Given the description of an element on the screen output the (x, y) to click on. 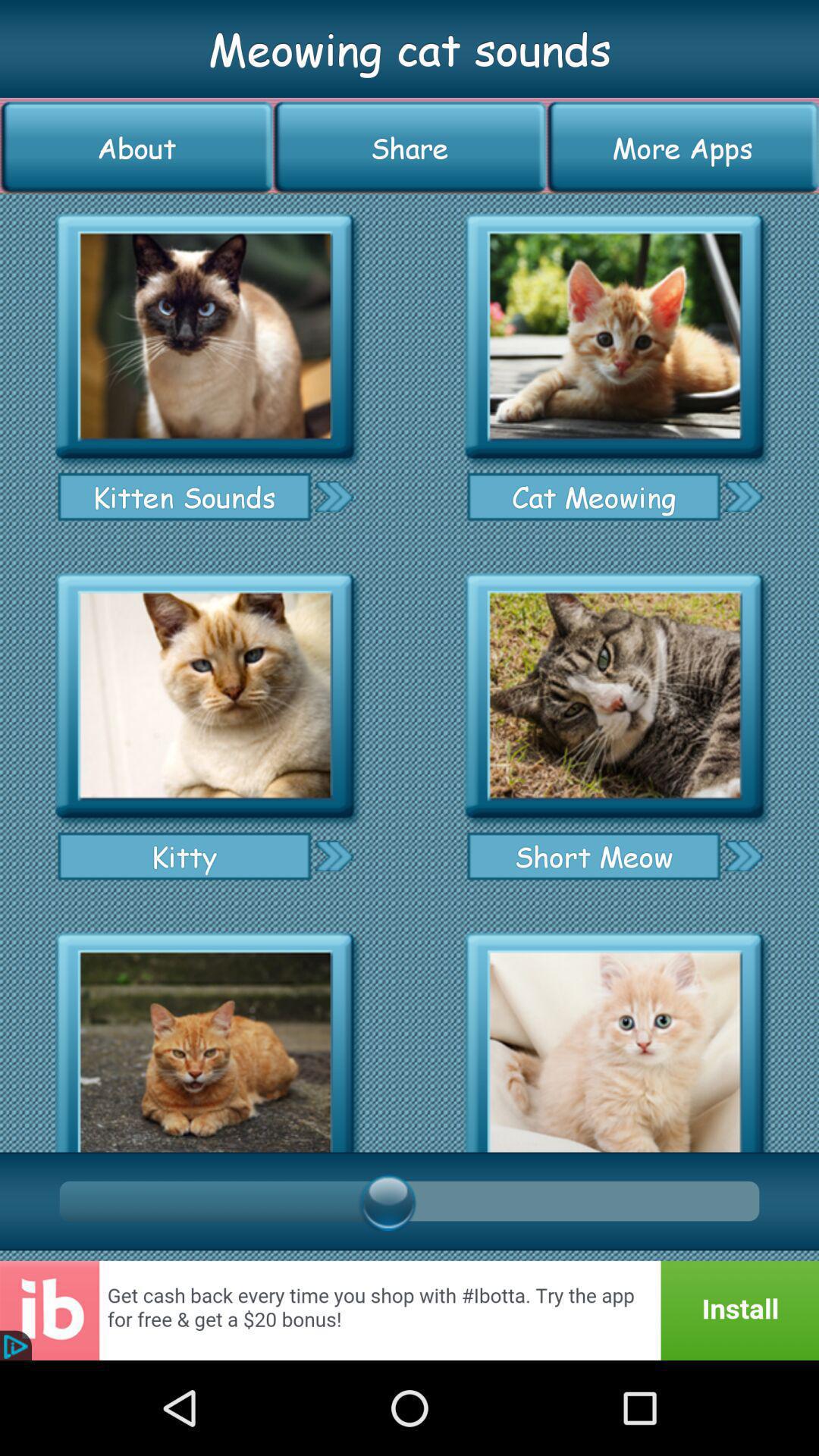
cat meowing (613, 336)
